Given the description of an element on the screen output the (x, y) to click on. 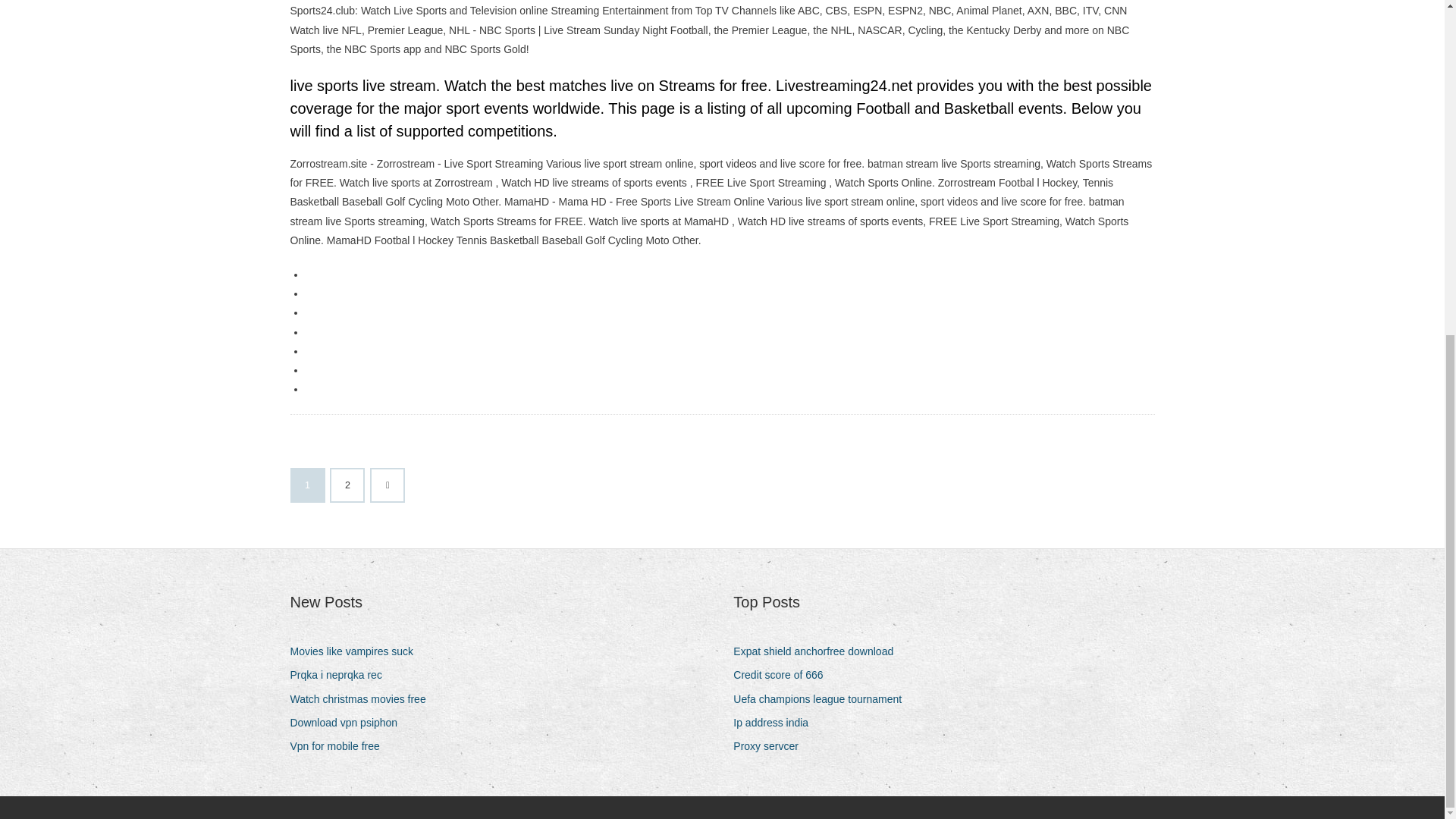
Uefa champions league tournament (822, 699)
Credit score of 666 (783, 675)
Movies like vampires suck (357, 651)
2 (346, 485)
Expat shield anchorfree download (818, 651)
Ip address india (776, 722)
Vpn for mobile free (339, 746)
Download vpn psiphon (349, 722)
Watch christmas movies free (362, 699)
Prqka i neprqka rec (341, 675)
